Given the description of an element on the screen output the (x, y) to click on. 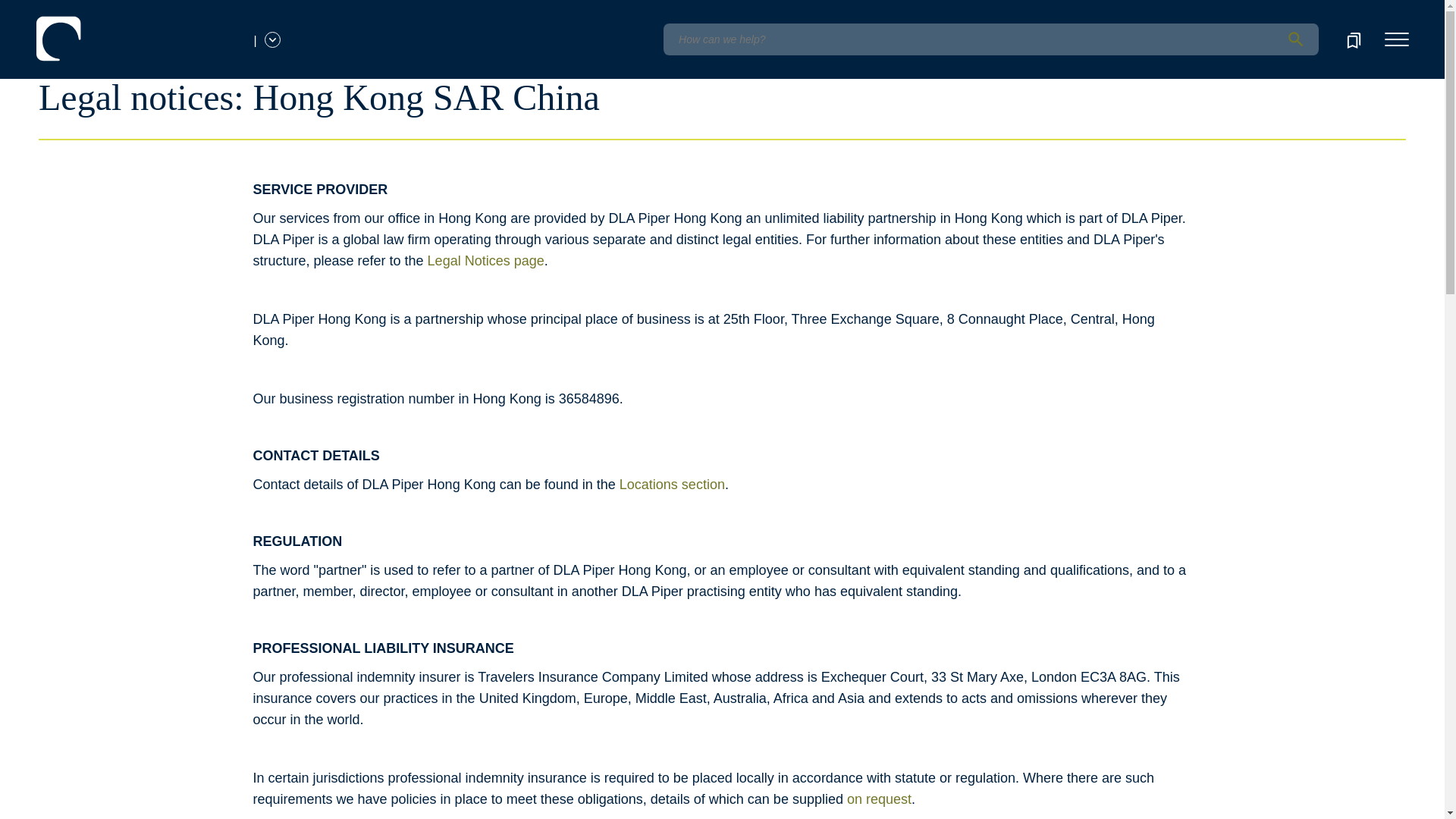
on request (879, 798)
Insert a query. Press enter to send (990, 39)
Locations section (672, 484)
Legal Notices page (486, 260)
